Given the description of an element on the screen output the (x, y) to click on. 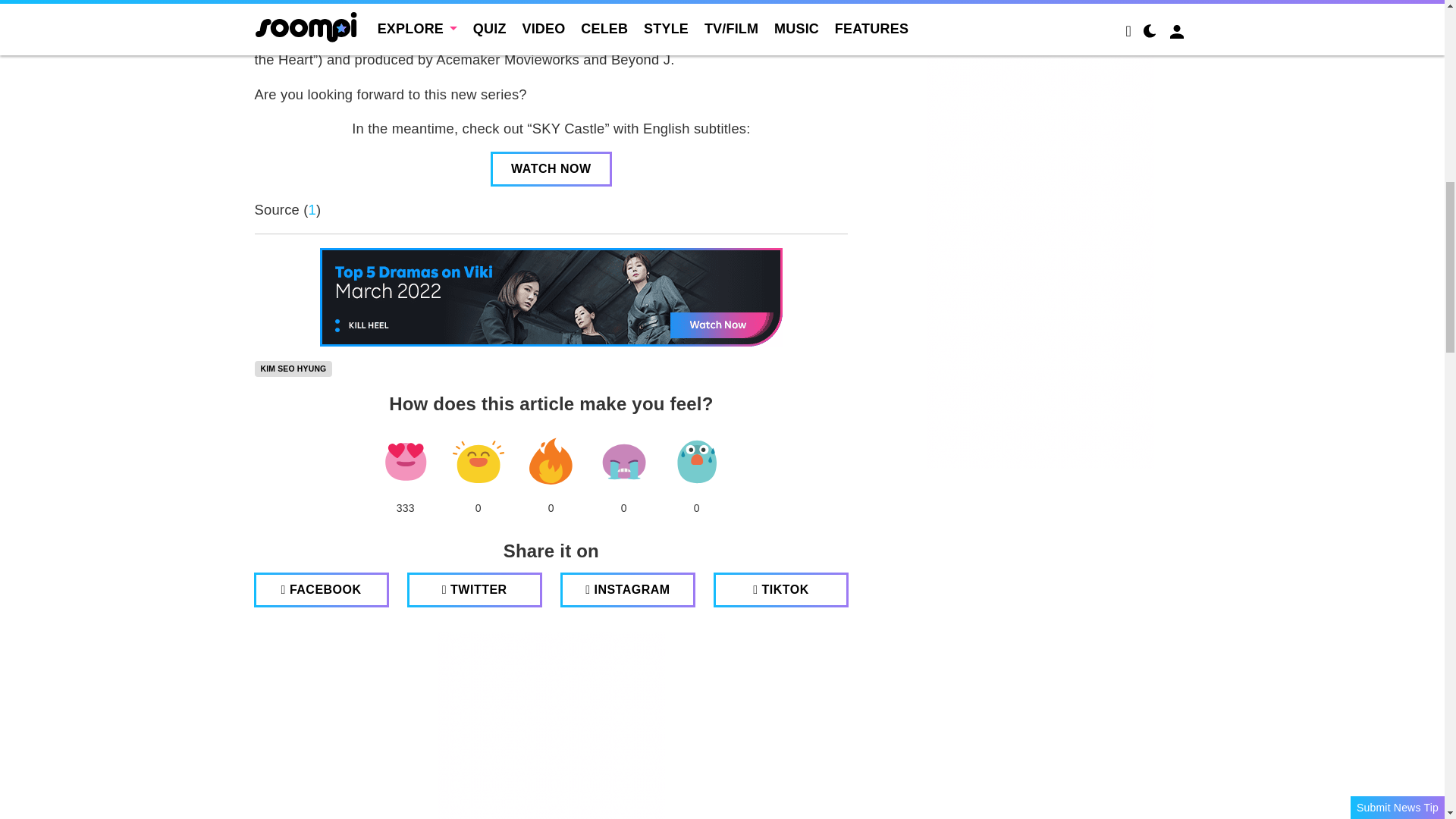
fire (550, 461)
KIM SEO HYUNG (293, 369)
3rd party ad content (551, 725)
OMG (696, 461)
heart (405, 461)
Fire (550, 461)
Heart (405, 461)
WATCH NOW (550, 168)
Kim Seo Hyung (293, 369)
Crying (623, 461)
LOL (478, 461)
lol (478, 461)
